Given the description of an element on the screen output the (x, y) to click on. 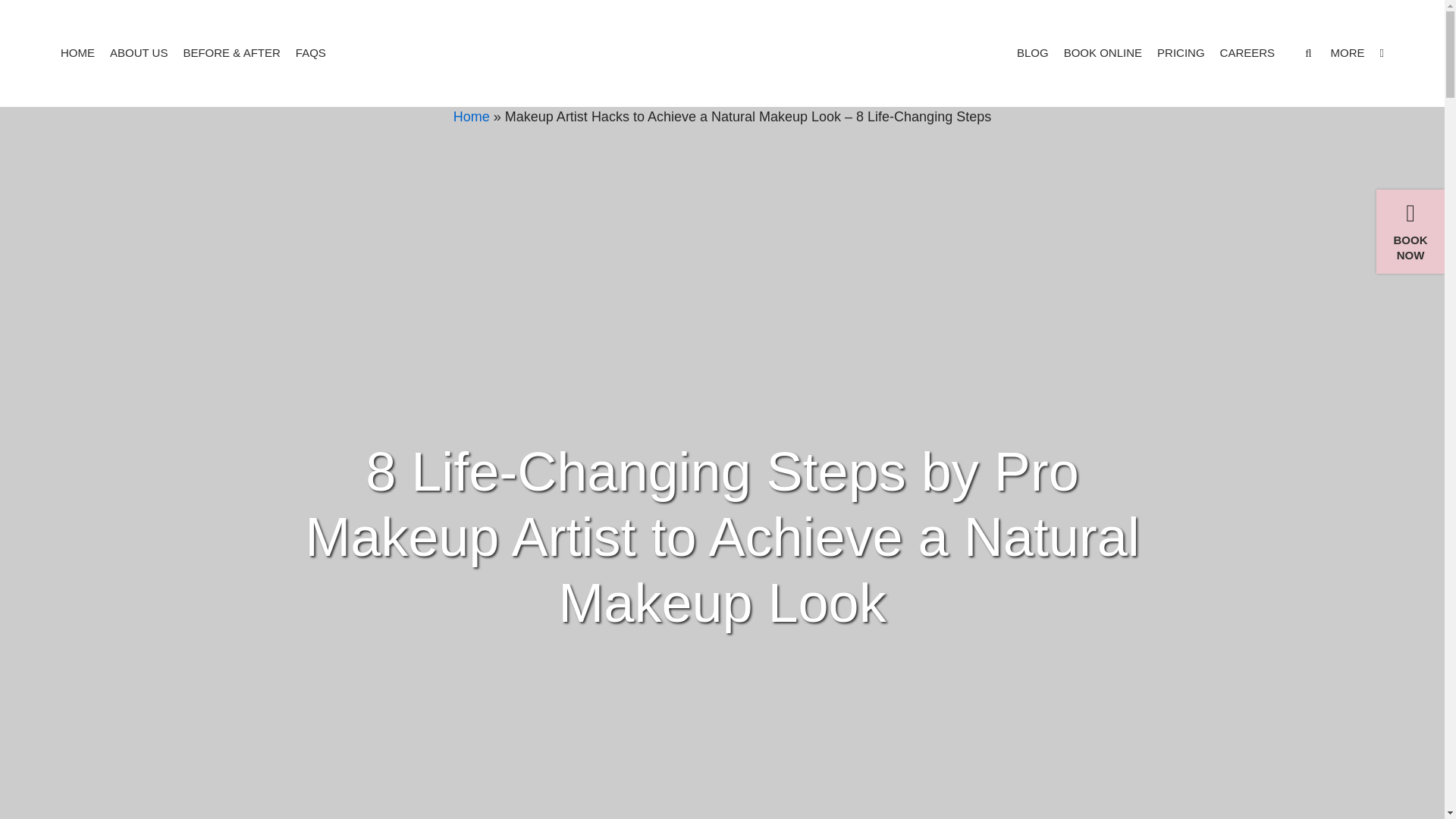
CAREERS (1247, 52)
HOME (77, 52)
ABOUT US (138, 52)
BOOK ONLINE (1102, 52)
BLOG (1032, 52)
PRICING (1181, 52)
MORE (1356, 51)
FAQS (310, 52)
